Given the description of an element on the screen output the (x, y) to click on. 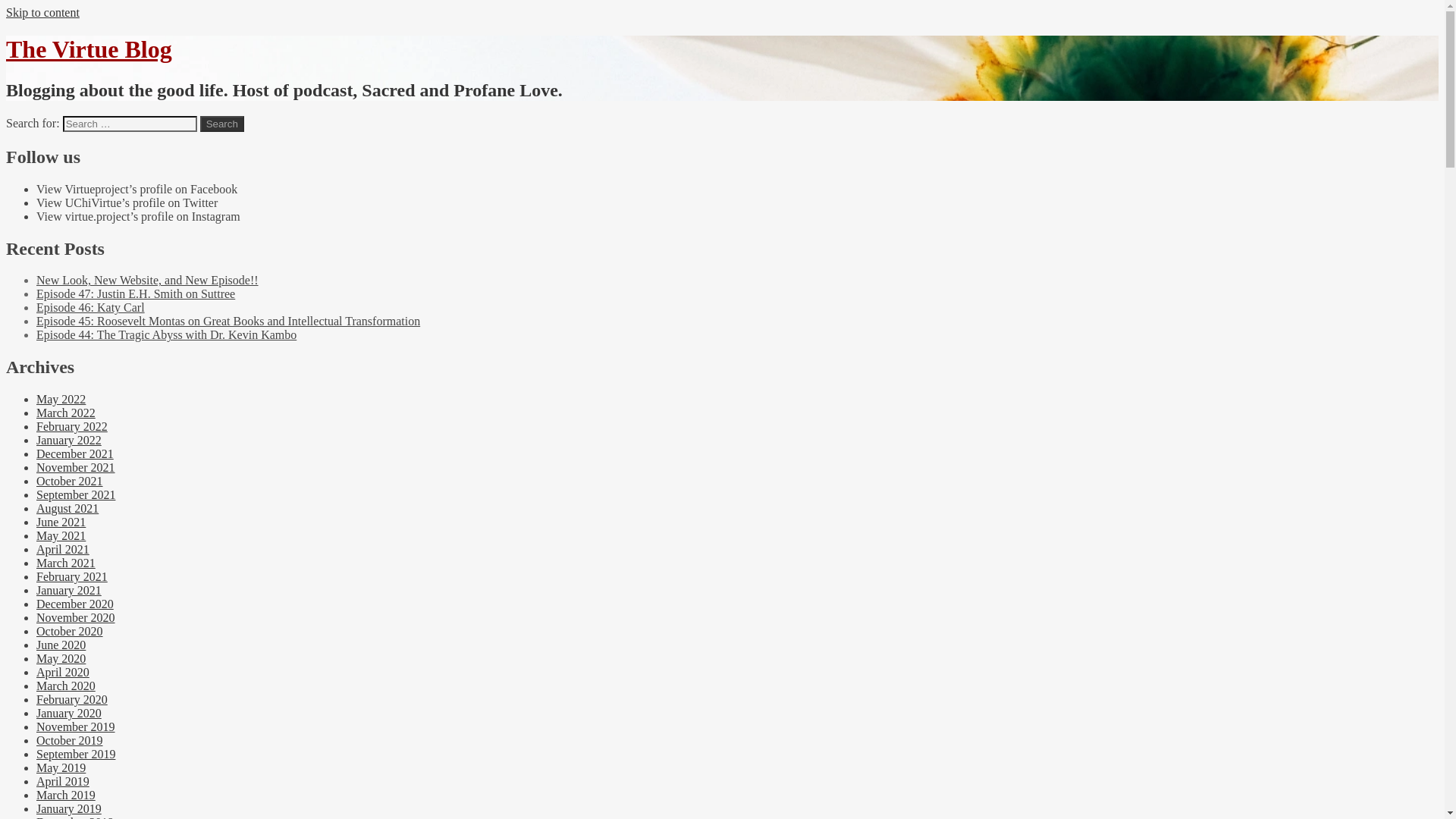
April 2021 (62, 549)
September 2021 (75, 494)
January 2019 (68, 808)
February 2021 (71, 576)
November 2020 (75, 617)
October 2020 (69, 631)
May 2021 (60, 535)
New Look, New Website, and New Episode!! (147, 279)
December 2021 (74, 453)
March 2020 (66, 685)
